Given the description of an element on the screen output the (x, y) to click on. 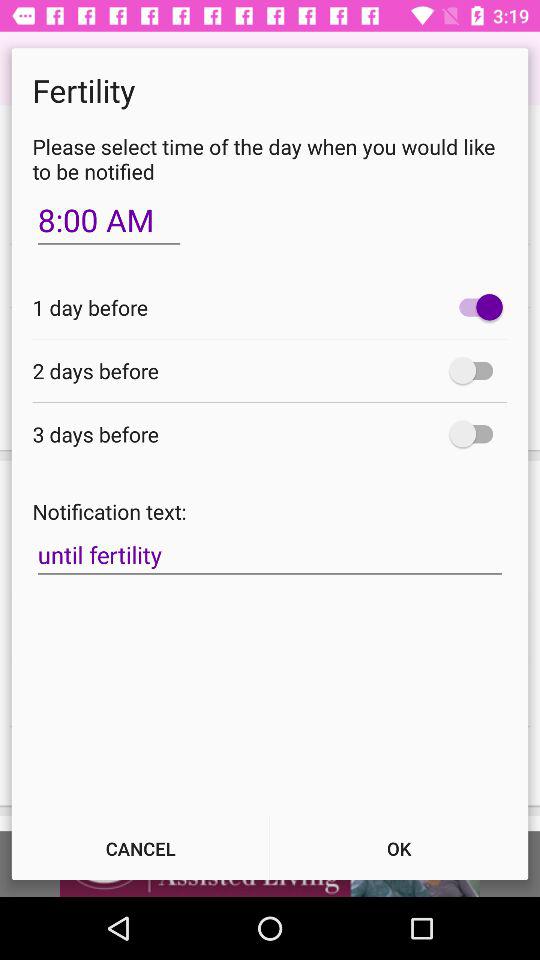
toggle alarm (476, 307)
